Given the description of an element on the screen output the (x, y) to click on. 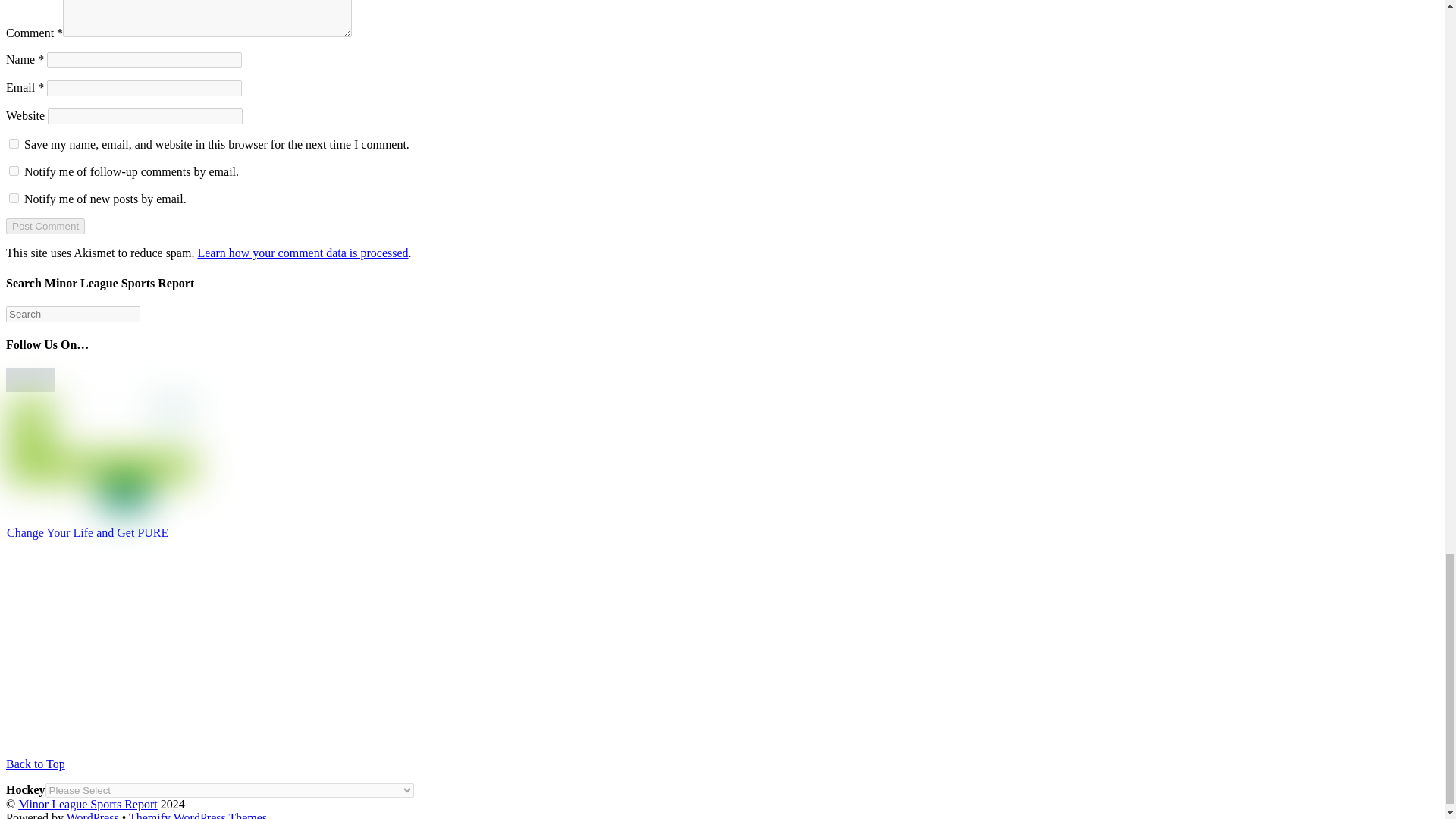
subscribe (13, 198)
Post Comment (44, 226)
Change Your Life and Get PURE (87, 532)
Back to Top (35, 763)
Post Comment (44, 226)
subscribe (13, 171)
yes (13, 143)
Learn how your comment data is processed (301, 252)
